Given the description of an element on the screen output the (x, y) to click on. 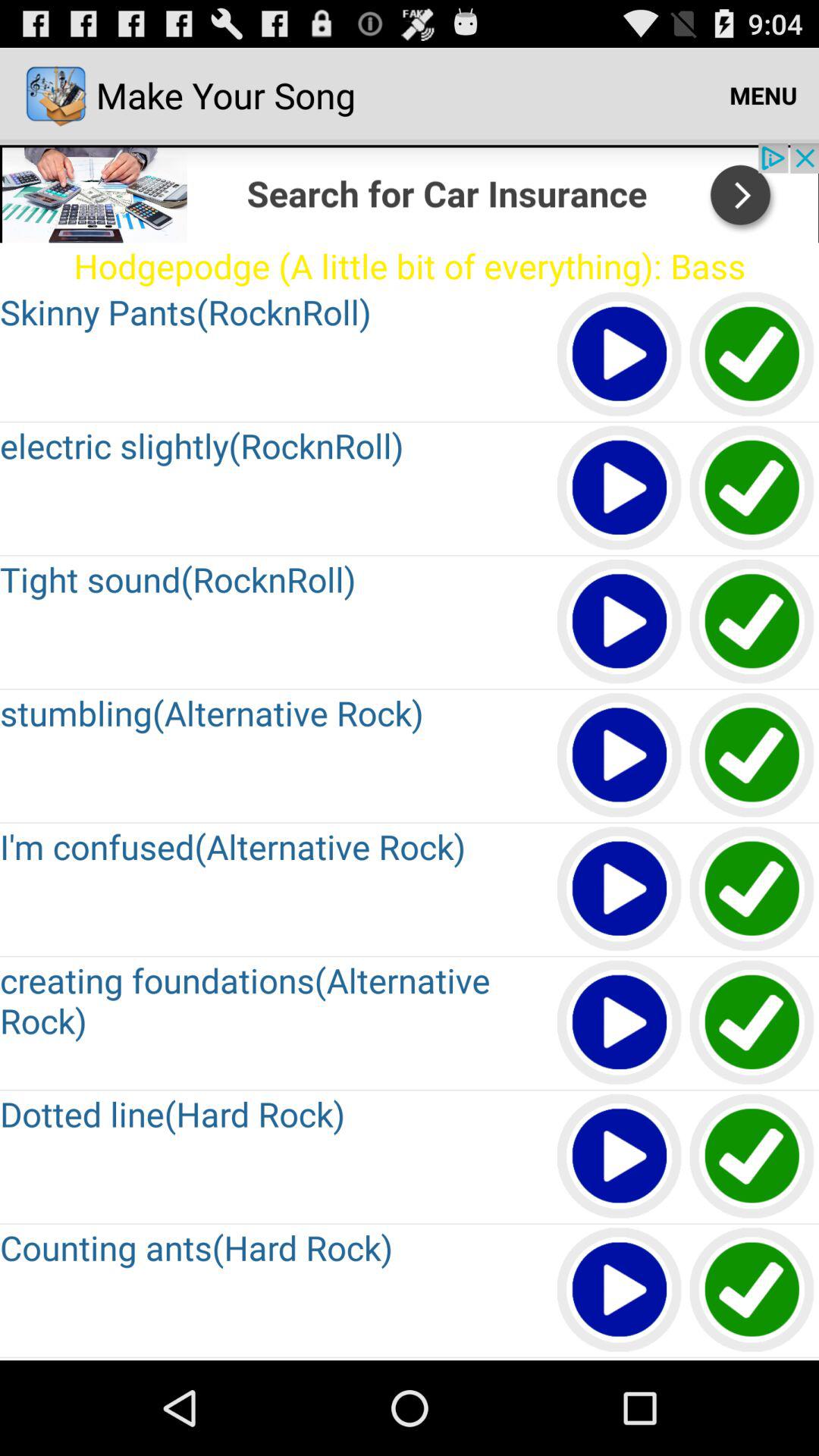
choose song (752, 889)
